Given the description of an element on the screen output the (x, y) to click on. 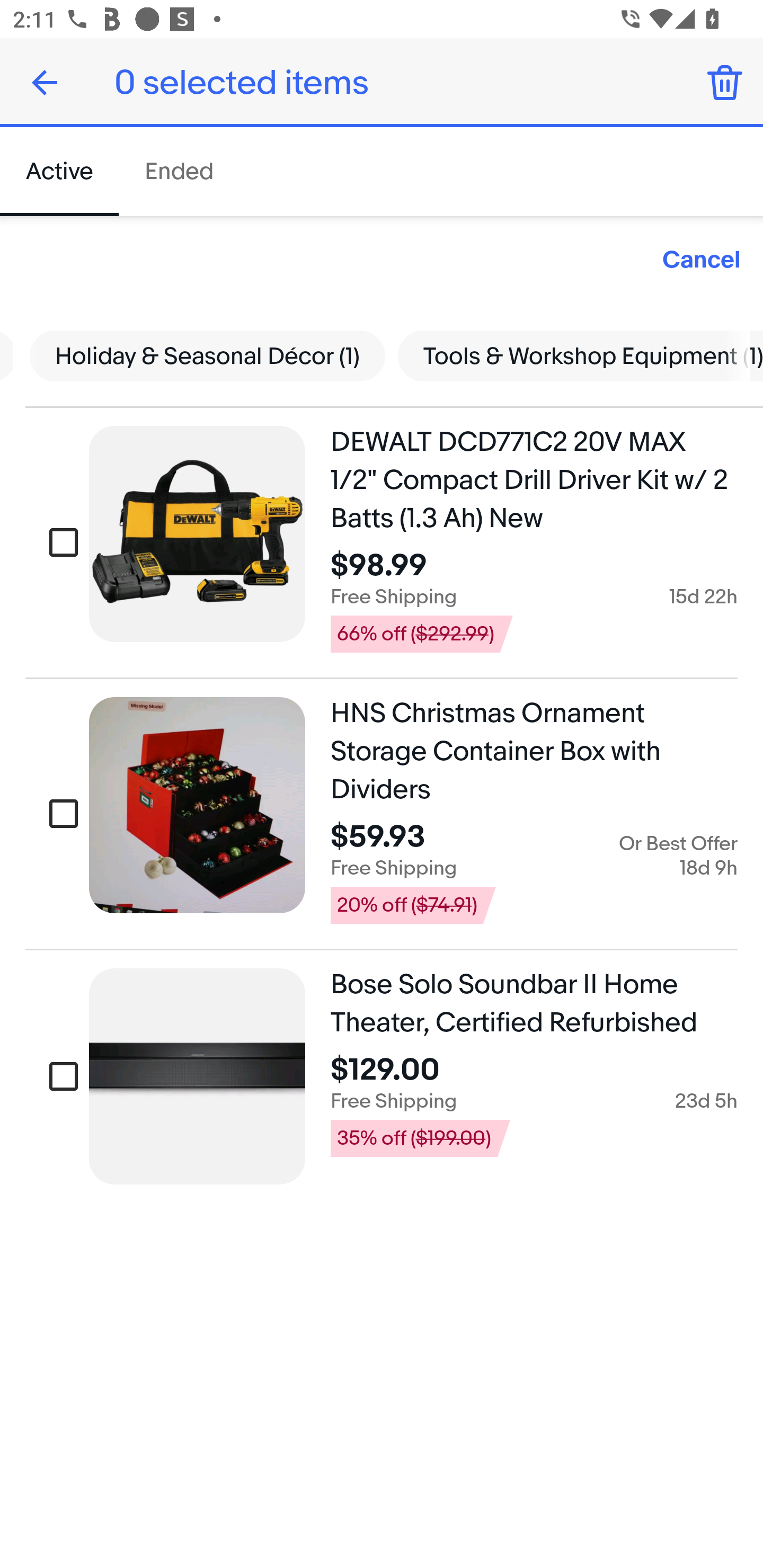
Done (44, 81)
Delete (724, 81)
Ended (178, 171)
Cancel (701, 260)
Holiday & Seasonal Décor (1) (207, 355)
Tools & Workshop Equipment (1) (574, 355)
